Given the description of an element on the screen output the (x, y) to click on. 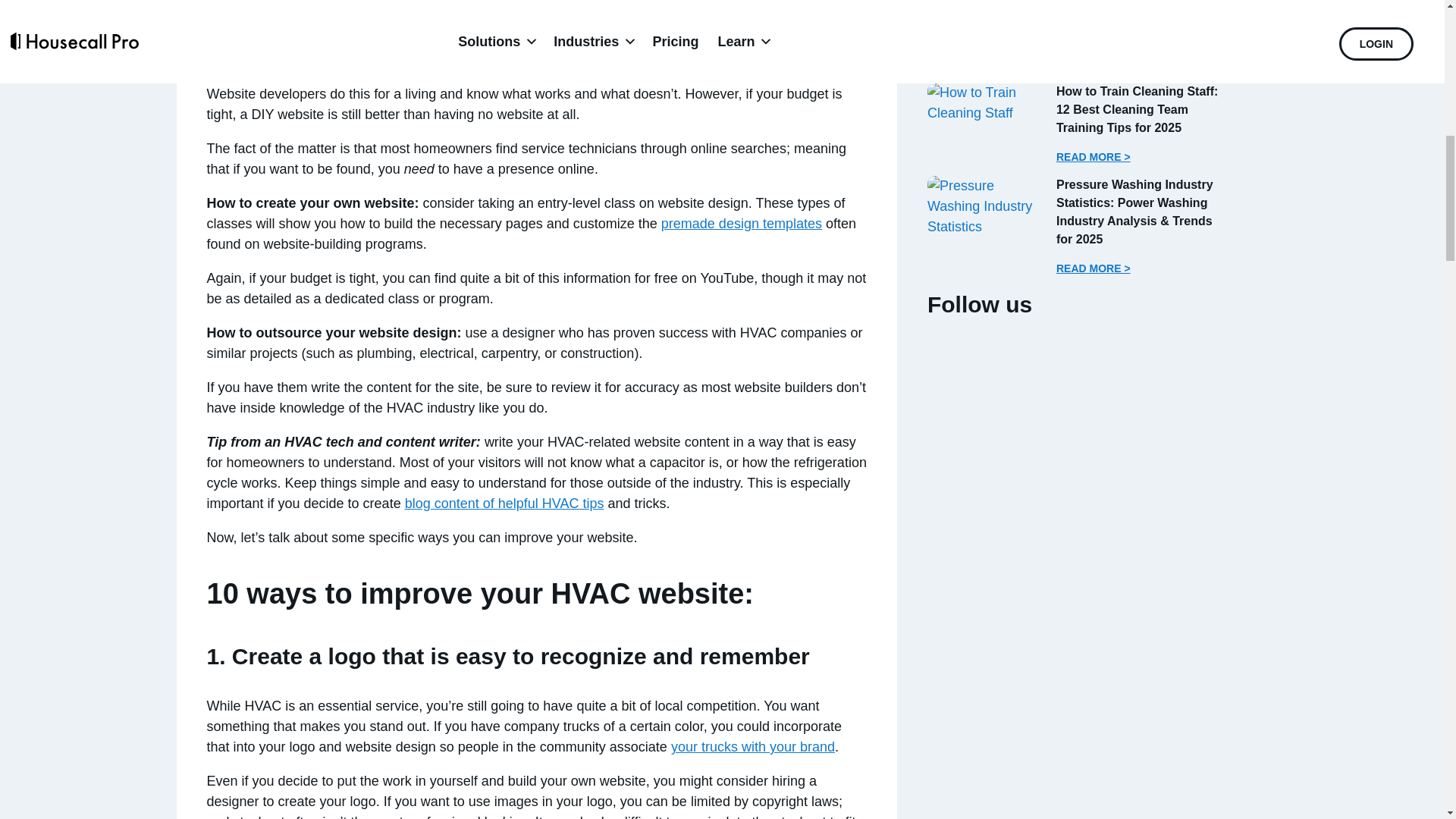
 - Housecall Pro (984, 25)
 - Housecall Pro (984, 206)
 - Housecall Pro (984, 102)
